Given the description of an element on the screen output the (x, y) to click on. 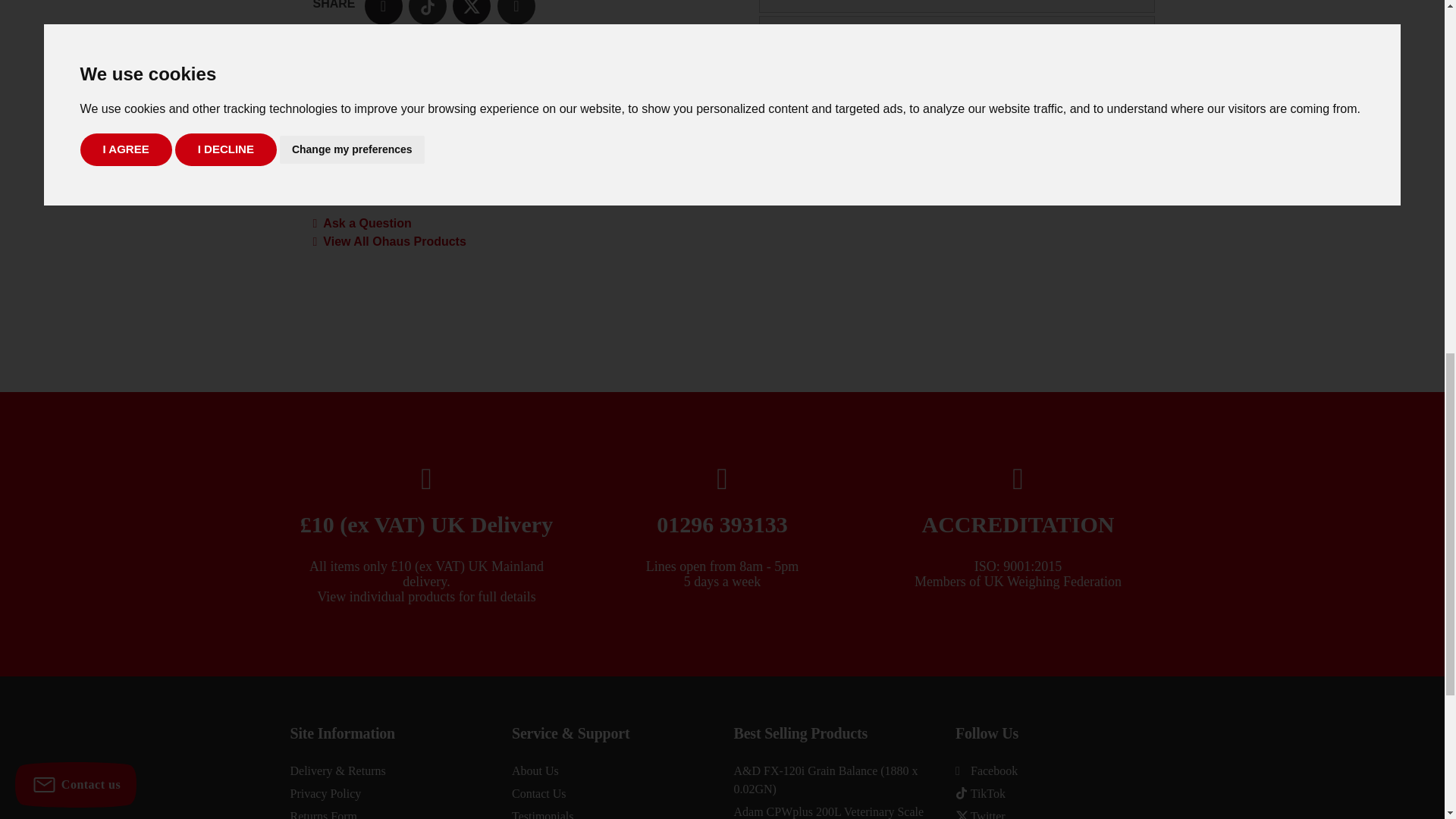
YouTube video player (956, 236)
